Given the description of an element on the screen output the (x, y) to click on. 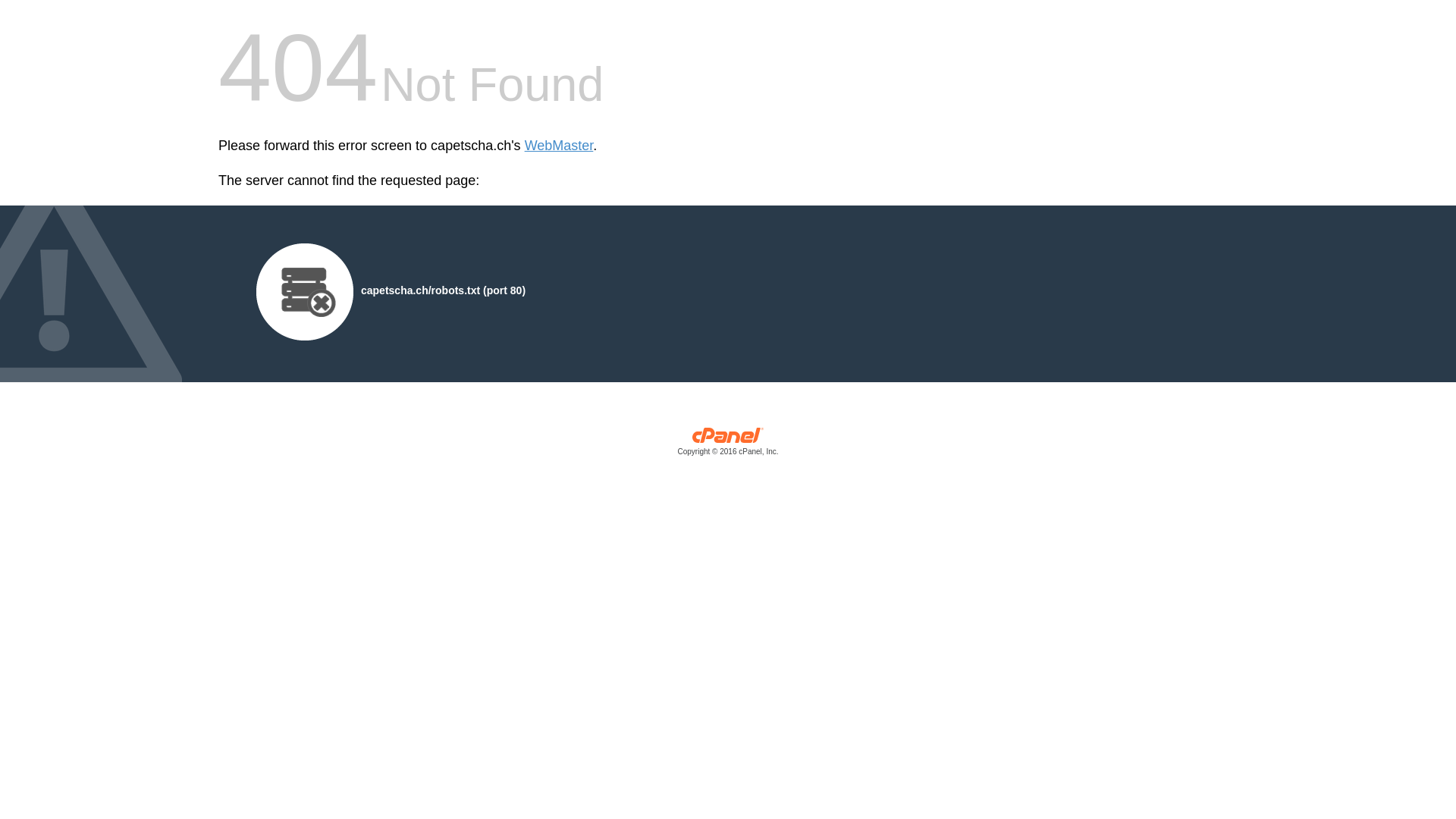
WebMaster Element type: text (558, 145)
